Given the description of an element on the screen output the (x, y) to click on. 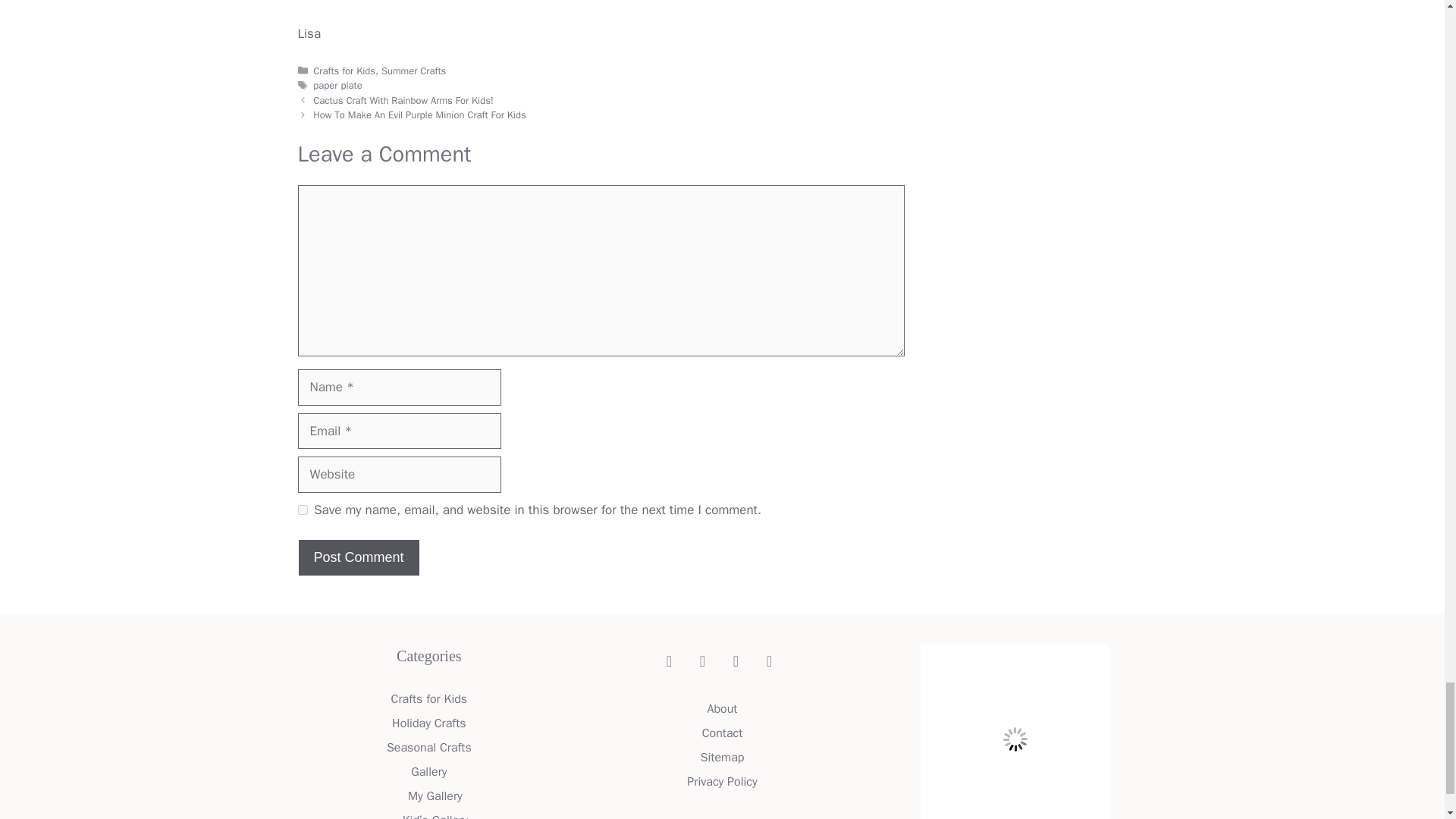
yes (302, 510)
Facebook (735, 660)
Instagram (768, 660)
YouTube (668, 660)
Post Comment (358, 557)
Pinterest (702, 660)
